Given the description of an element on the screen output the (x, y) to click on. 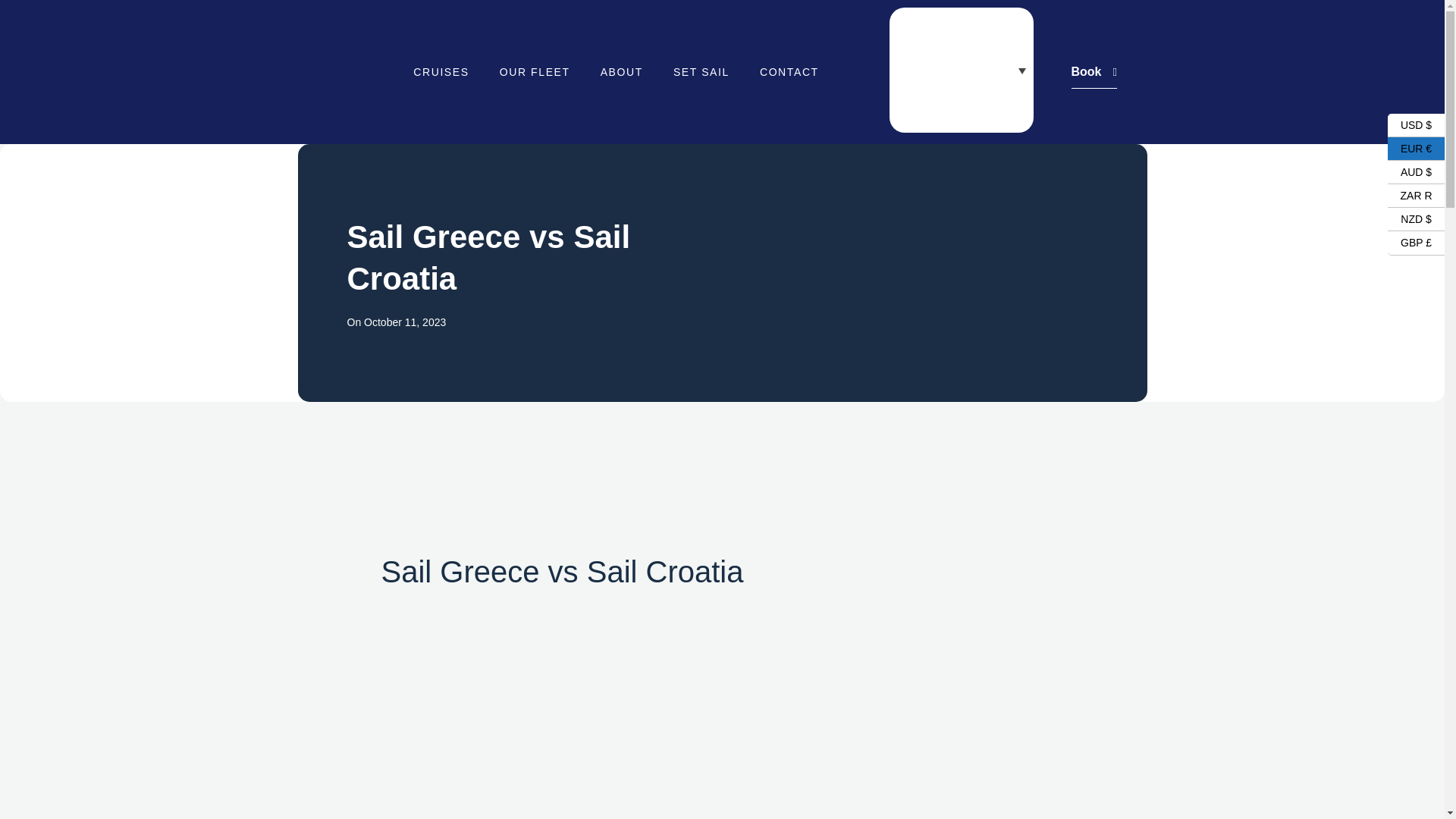
OUR FLEET (534, 71)
CONTACT (789, 71)
ABOUT (621, 71)
SET SAIL (701, 71)
